Given the description of an element on the screen output the (x, y) to click on. 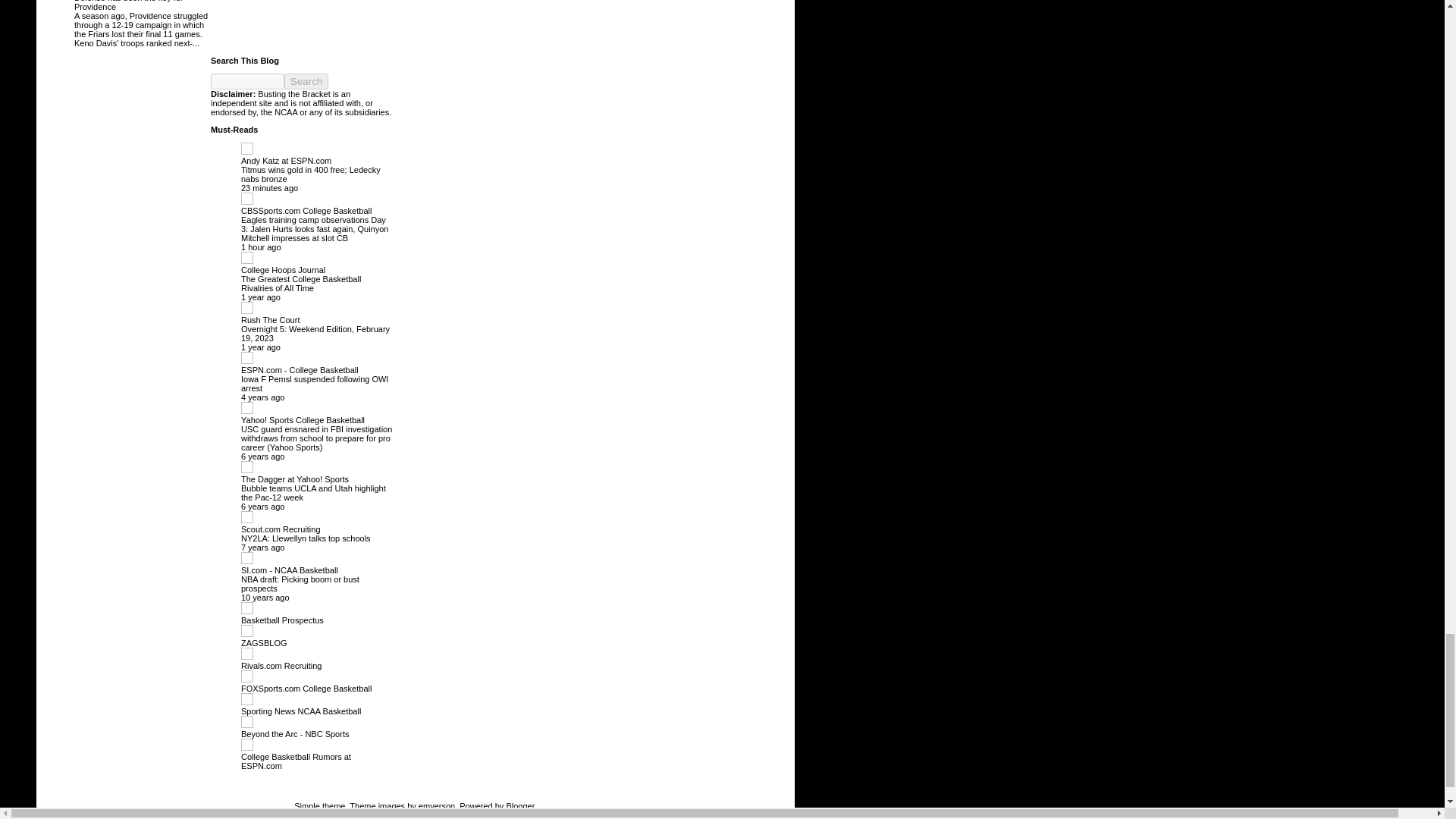
search (306, 81)
Search (306, 81)
Search (306, 81)
search (247, 81)
